Given the description of an element on the screen output the (x, y) to click on. 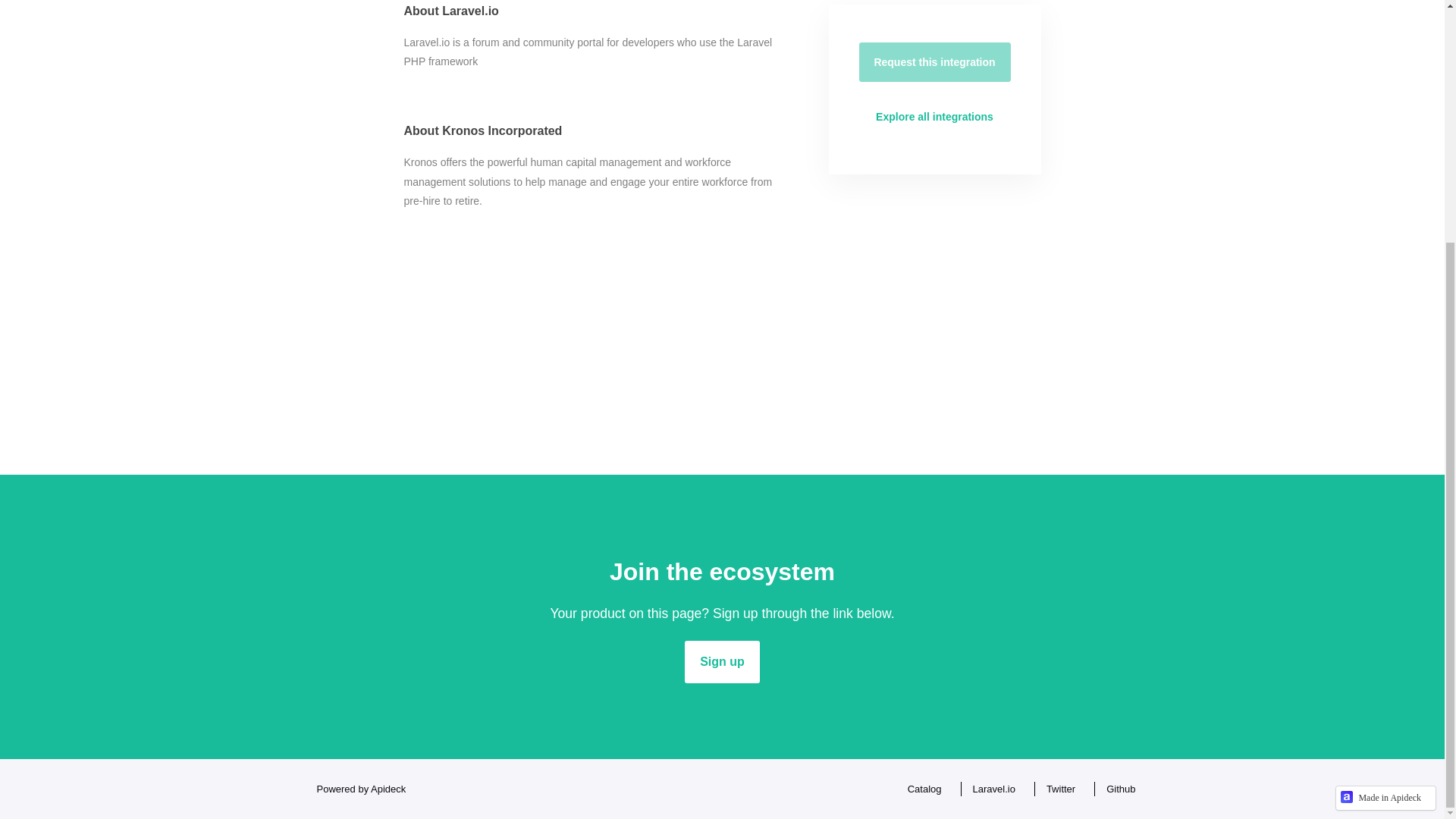
Sign up (722, 661)
Request this integration (934, 61)
Twitter (1056, 789)
Github (1116, 789)
Laravel.io (989, 789)
Powered by Apideck (356, 789)
Explore all integrations (934, 116)
Catalog (920, 789)
